Given the description of an element on the screen output the (x, y) to click on. 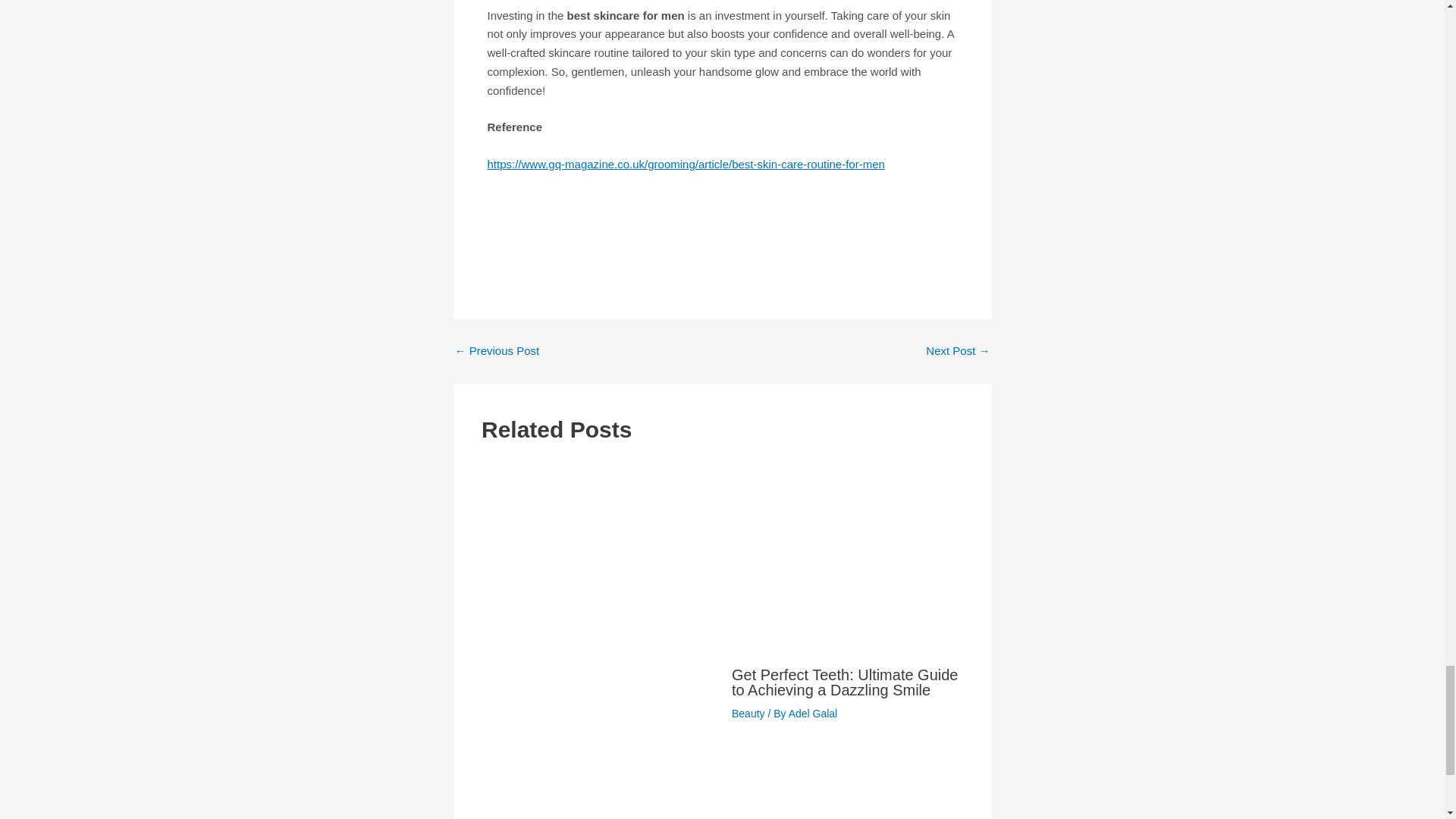
Strawberry Tongue: Signs and Solutions (497, 350)
View all posts by Adel Galal (813, 713)
Beauty (748, 713)
White Tongue: Unraveling Symptoms, and Solutions (958, 350)
Adel Galal (813, 713)
